Given the description of an element on the screen output the (x, y) to click on. 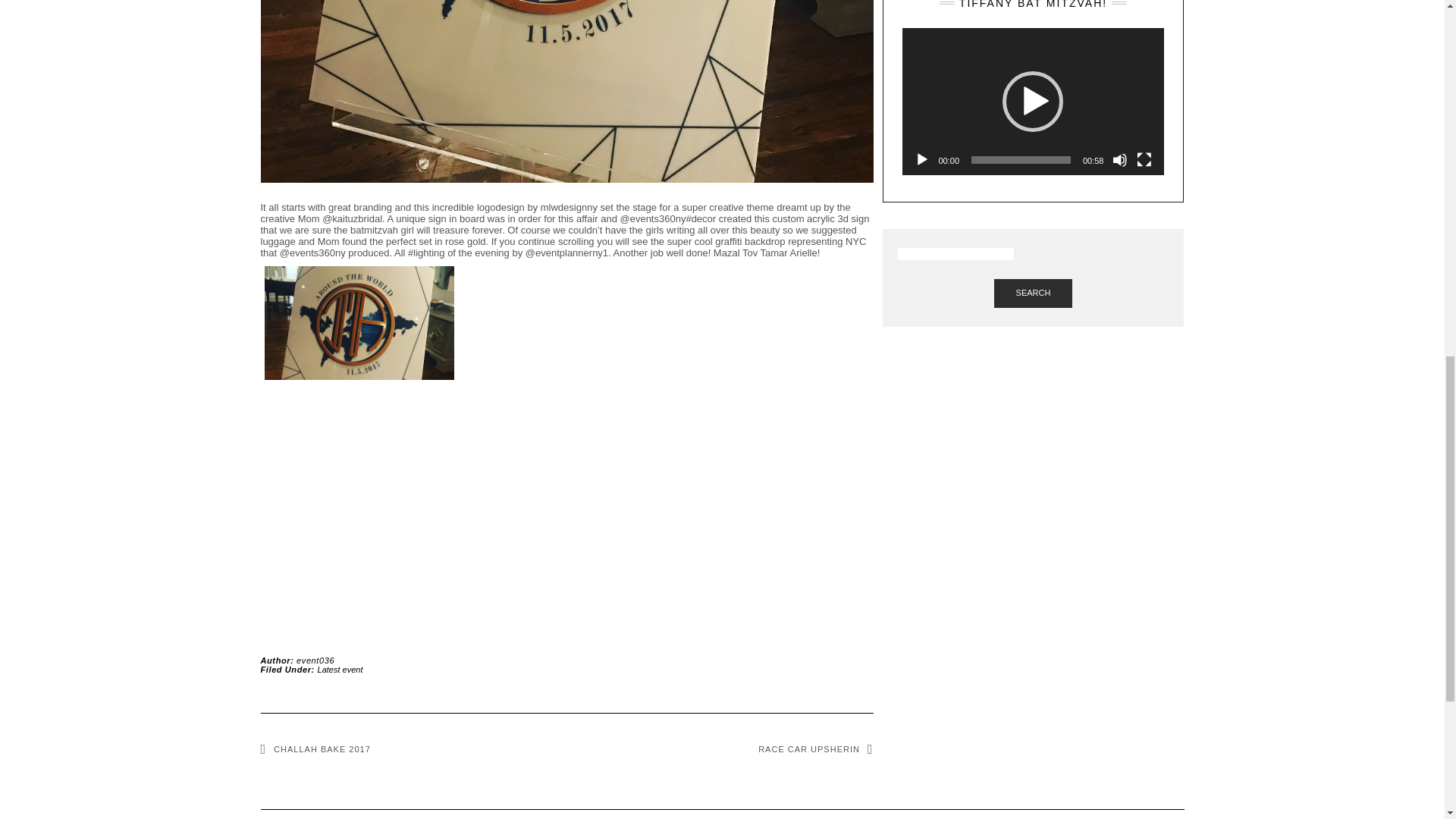
Play (922, 159)
Fullscreen (1144, 159)
SEARCH (1033, 293)
CHALLAH BAKE 2017 (315, 748)
Posts by event036 (315, 660)
Latest event (339, 669)
Mute (1119, 159)
event036 (315, 660)
RACE CAR UPSHERIN (815, 748)
